Given the description of an element on the screen output the (x, y) to click on. 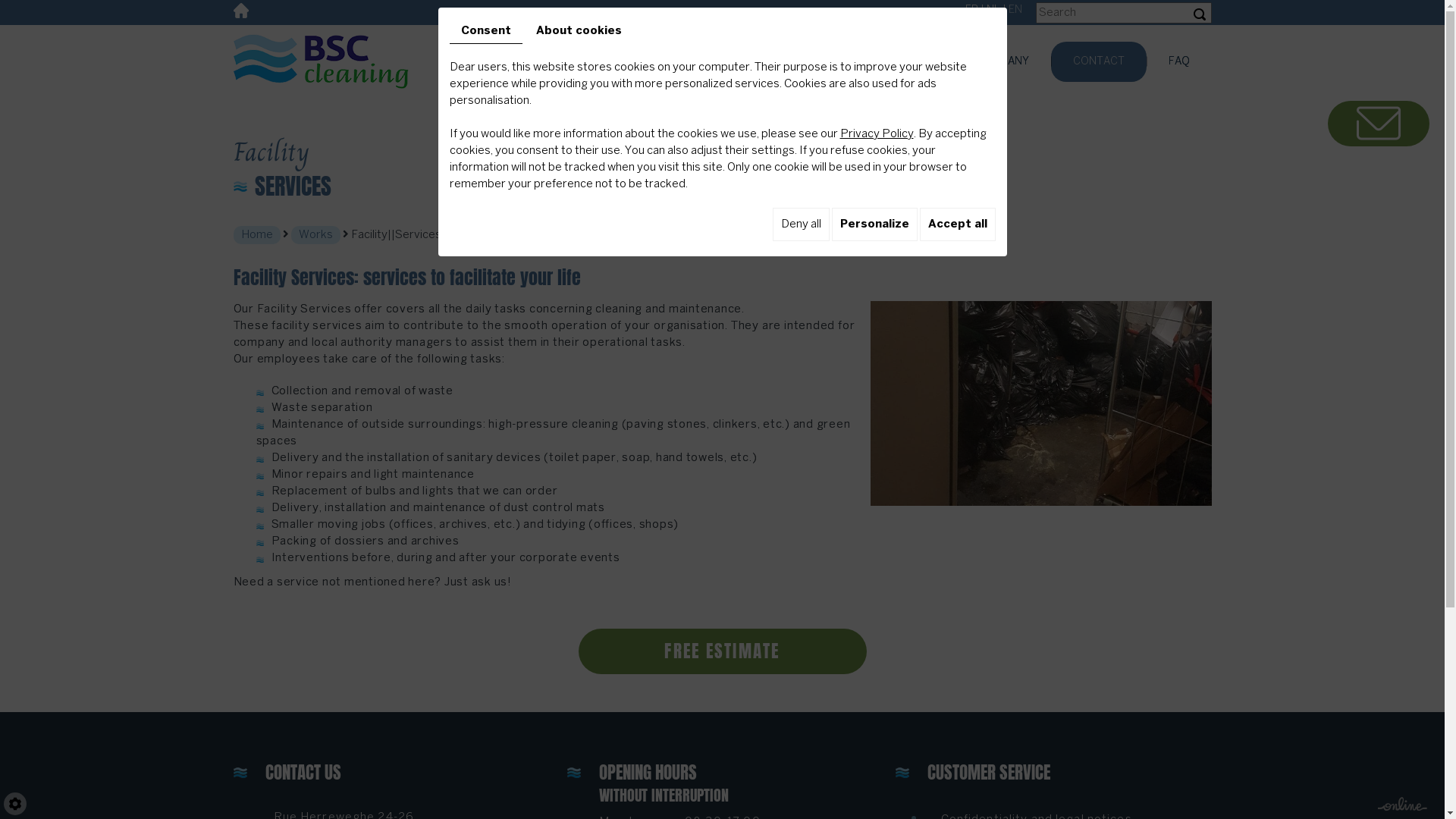
FAQ Element type: text (1178, 60)
Consent Element type: text (484, 30)
Deny all Element type: text (799, 224)
CONTACT Element type: text (1097, 60)
Home Element type: text (256, 234)
Works Element type: text (315, 234)
Accept all Element type: text (956, 224)
EN Element type: text (1015, 10)
FR Element type: text (970, 10)
WORKS Element type: text (889, 60)
NL Element type: text (992, 10)
AFTER DISASTER Element type: text (783, 60)
Privacy Policy Element type: text (876, 133)
THE COMPANY Element type: text (990, 60)
About cookies Element type: text (578, 30)
FREE ESTIMATE Element type: text (721, 650)
Edit cookies setting Element type: text (14, 803)
OUR SERVICES Element type: text (669, 60)
Personalize Element type: text (873, 224)
